Given the description of an element on the screen output the (x, y) to click on. 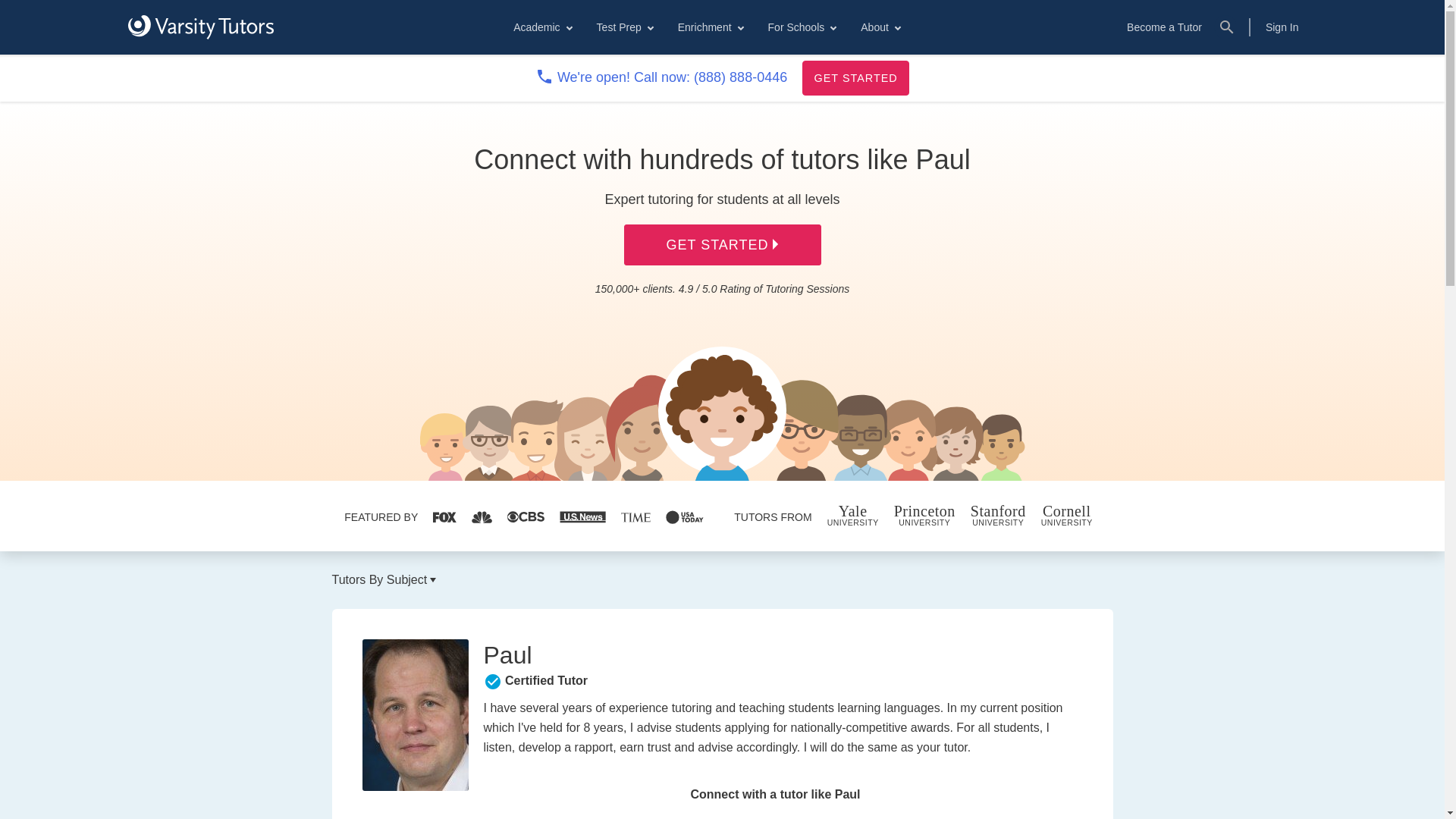
Academic (541, 27)
Varsity Tutors (200, 27)
GET STARTED (855, 77)
Varsity Tutors (200, 26)
